Given the description of an element on the screen output the (x, y) to click on. 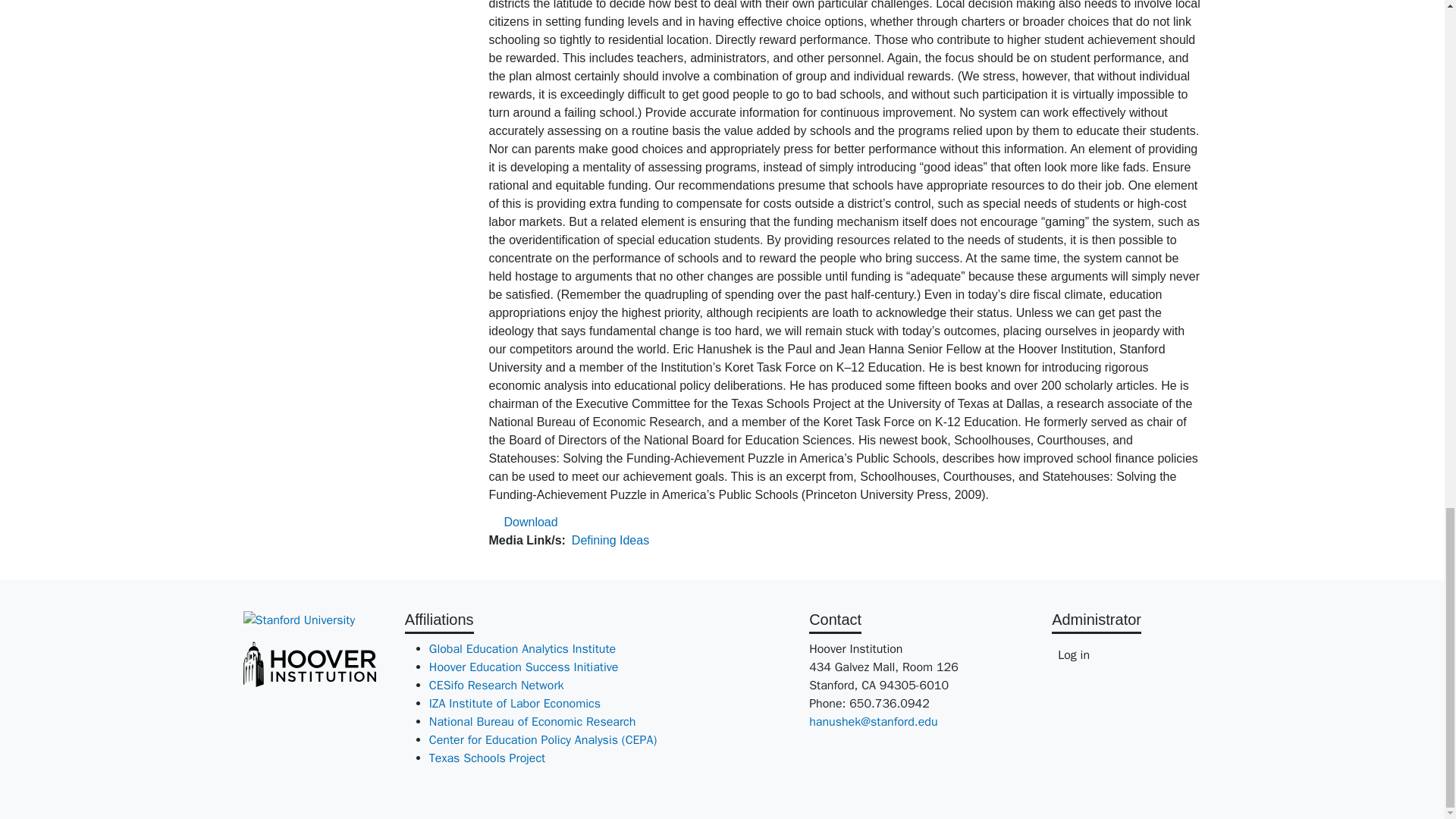
Download (530, 521)
Defining Ideas (610, 540)
